Given the description of an element on the screen output the (x, y) to click on. 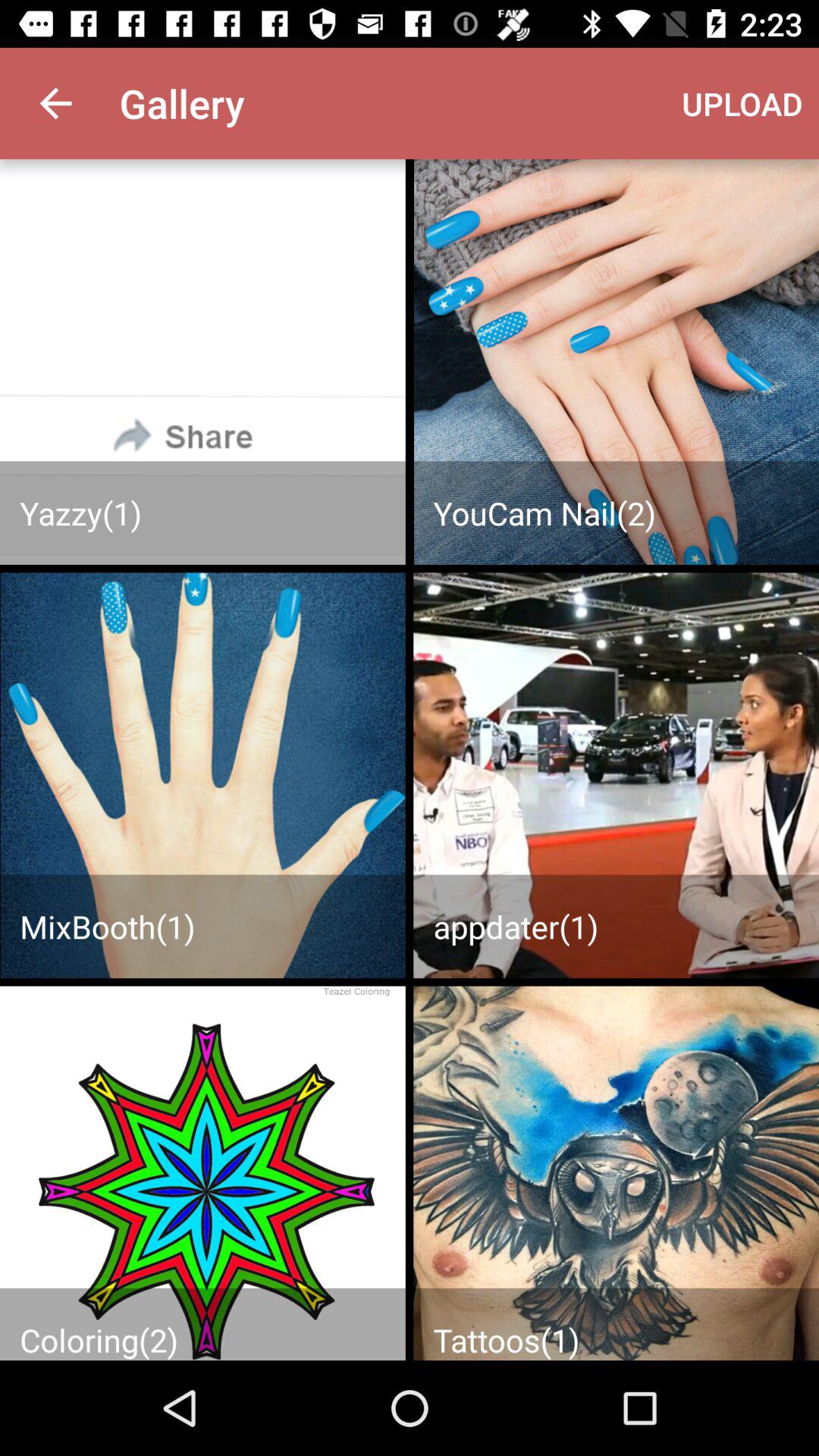
choose this picture (616, 775)
